Given the description of an element on the screen output the (x, y) to click on. 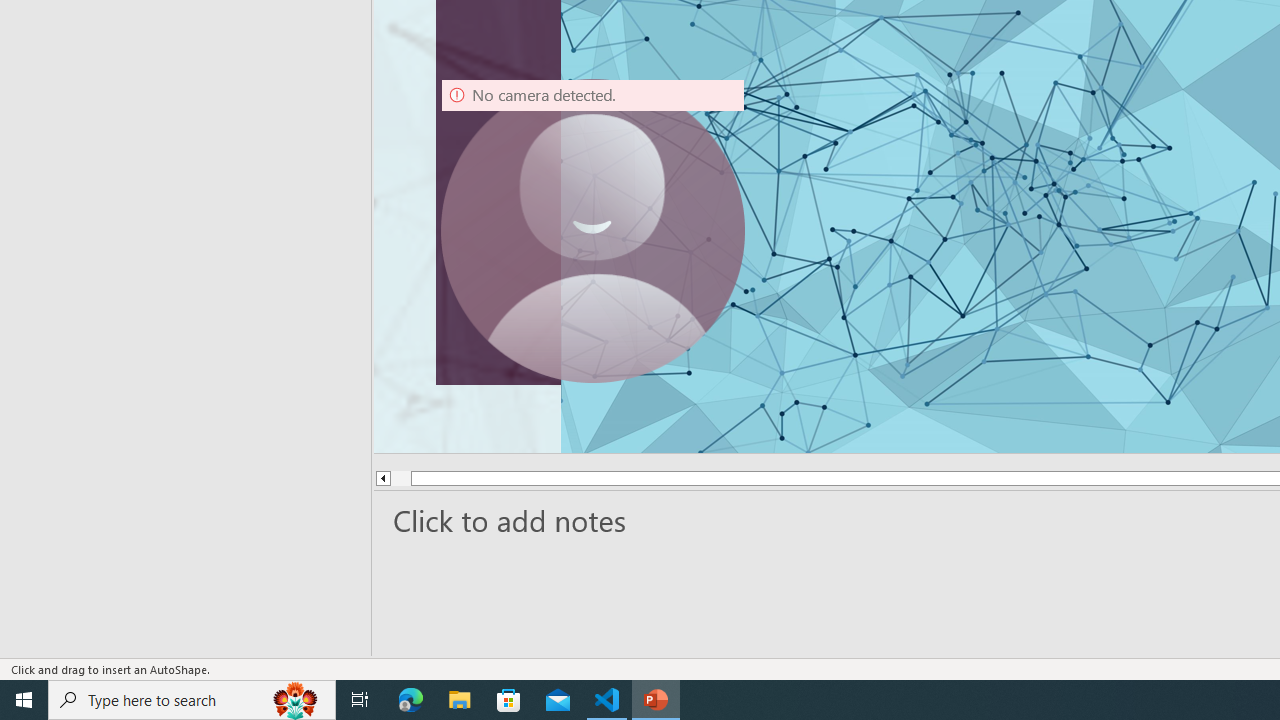
Camera 9, No camera detected. (593, 230)
